Given the description of an element on the screen output the (x, y) to click on. 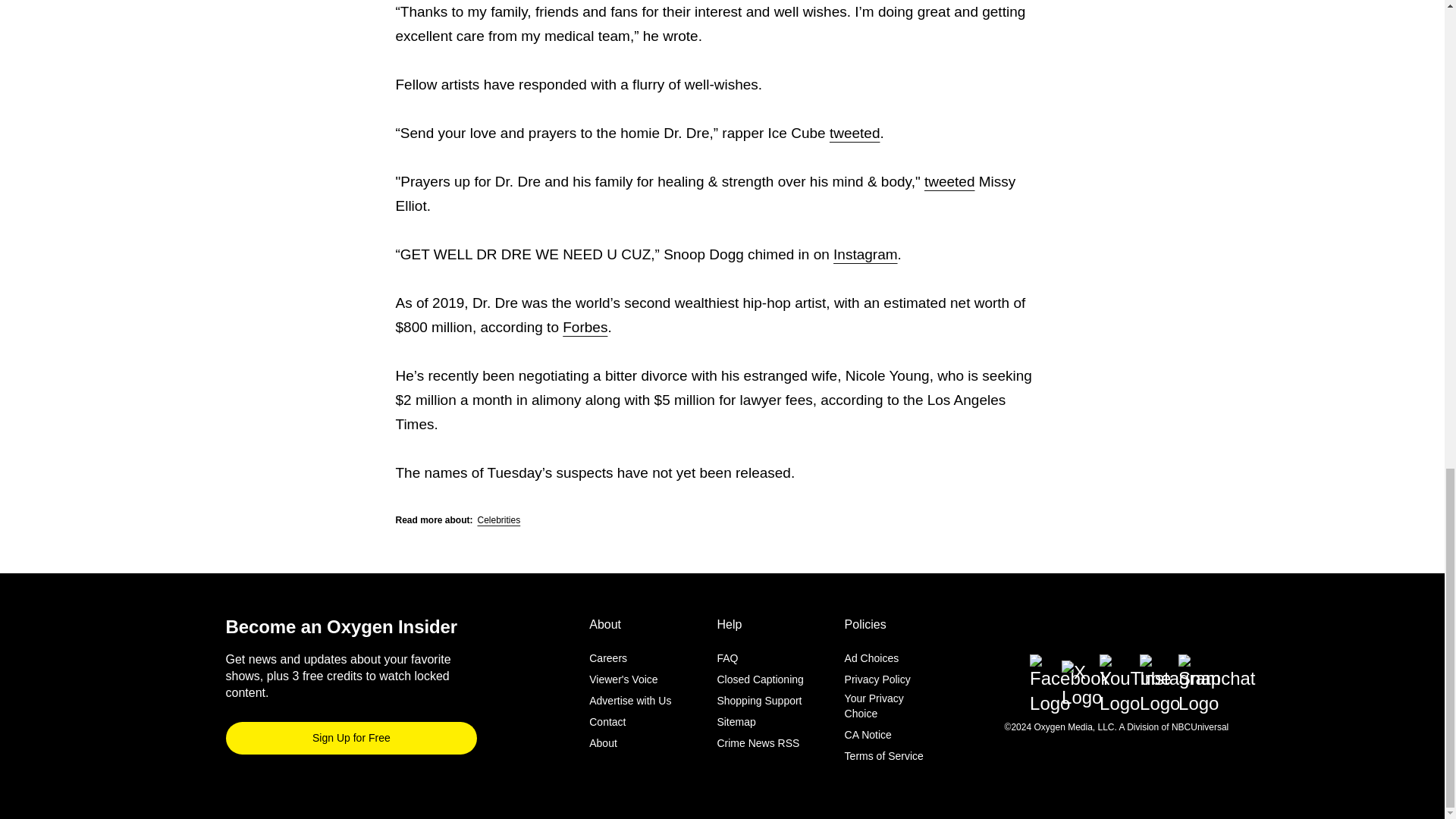
tweeted (949, 181)
Forbes (584, 326)
Celebrities (499, 520)
Advertise with Us (630, 700)
Instagram (864, 254)
tweeted (854, 132)
